Given the description of an element on the screen output the (x, y) to click on. 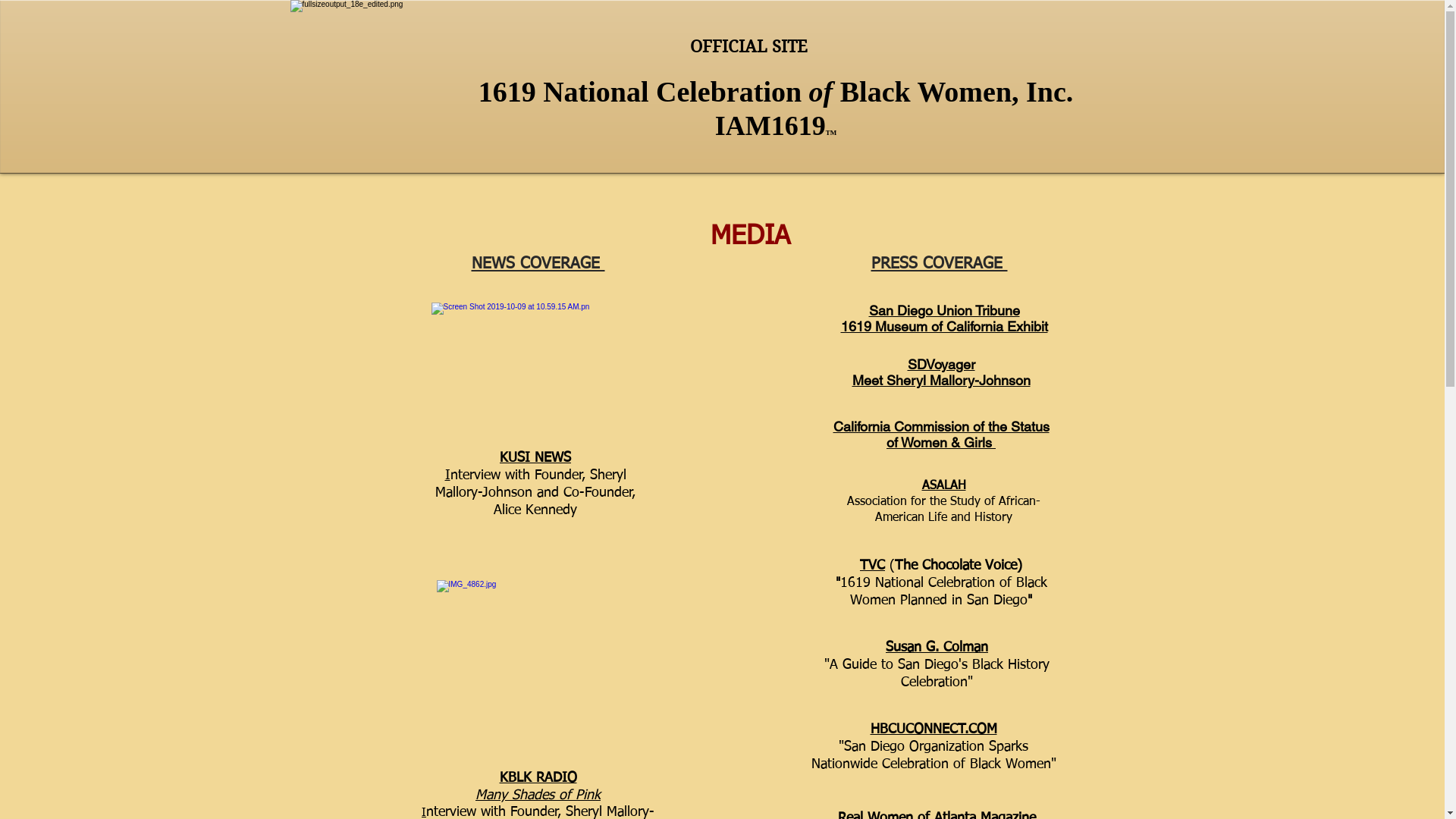
KUSI NEWS Element type: text (535, 457)
Meet Sheryl Mallory-Johnson Element type: text (941, 380)
ASALAH Element type: text (944, 486)
SDVoyager Element type: text (940, 364)
KBLK RADIO Element type: text (537, 777)
Alice Kennedy Element type: text (535, 510)
California Commission of the Status of Women & Girls  Element type: text (940, 434)
HBCUCONNECT.COM Element type: text (933, 729)
Susan G. Colman Element type: text (936, 647)
San Diego Union Tribune Element type: text (944, 310)
I Element type: text (446, 475)
1619 Museum of California Exhibit Element type: text (943, 326)
I Element type: text (423, 812)
TVC Element type: text (871, 565)
